Given the description of an element on the screen output the (x, y) to click on. 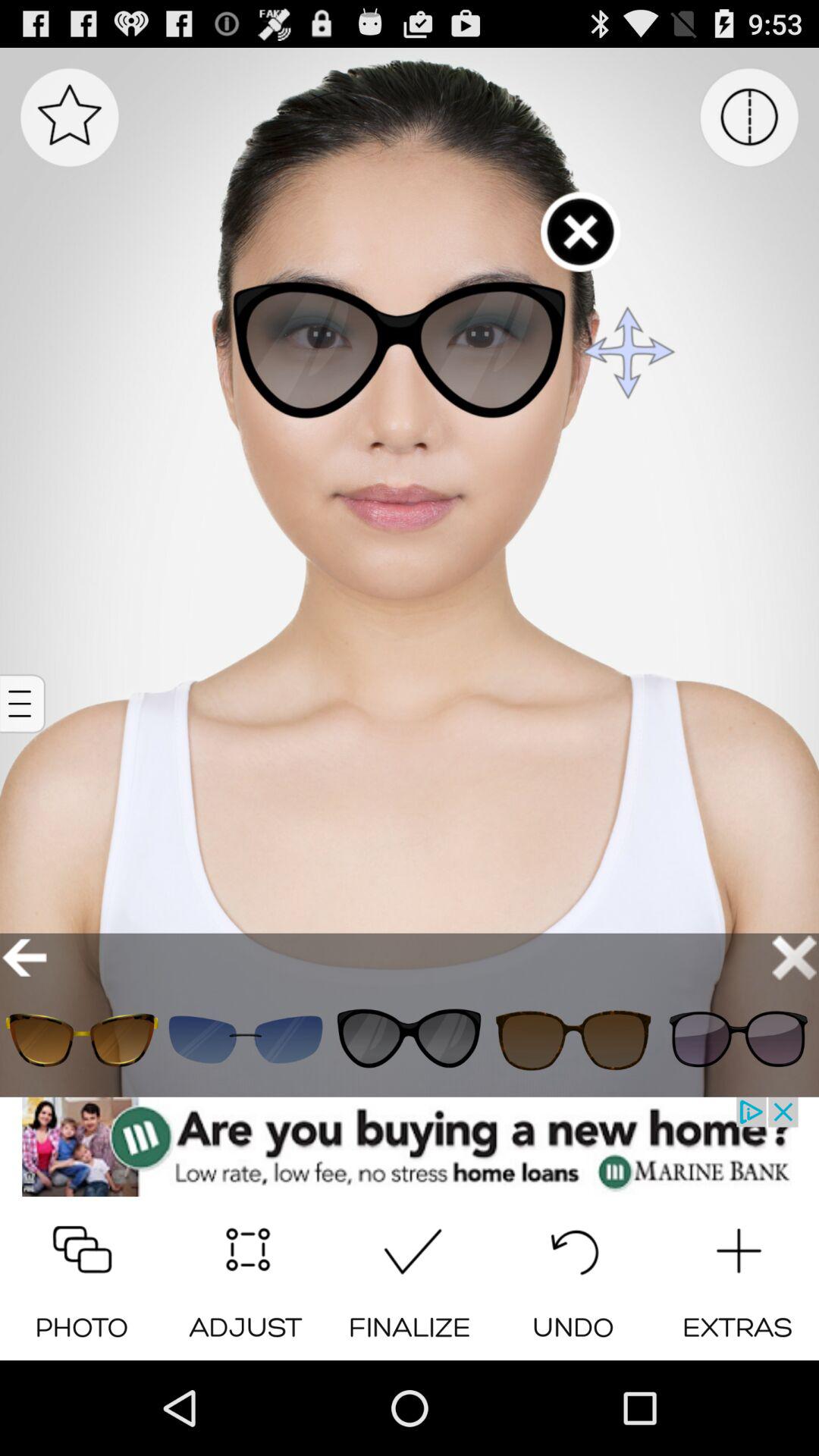
select item (245, 1039)
